Given the description of an element on the screen output the (x, y) to click on. 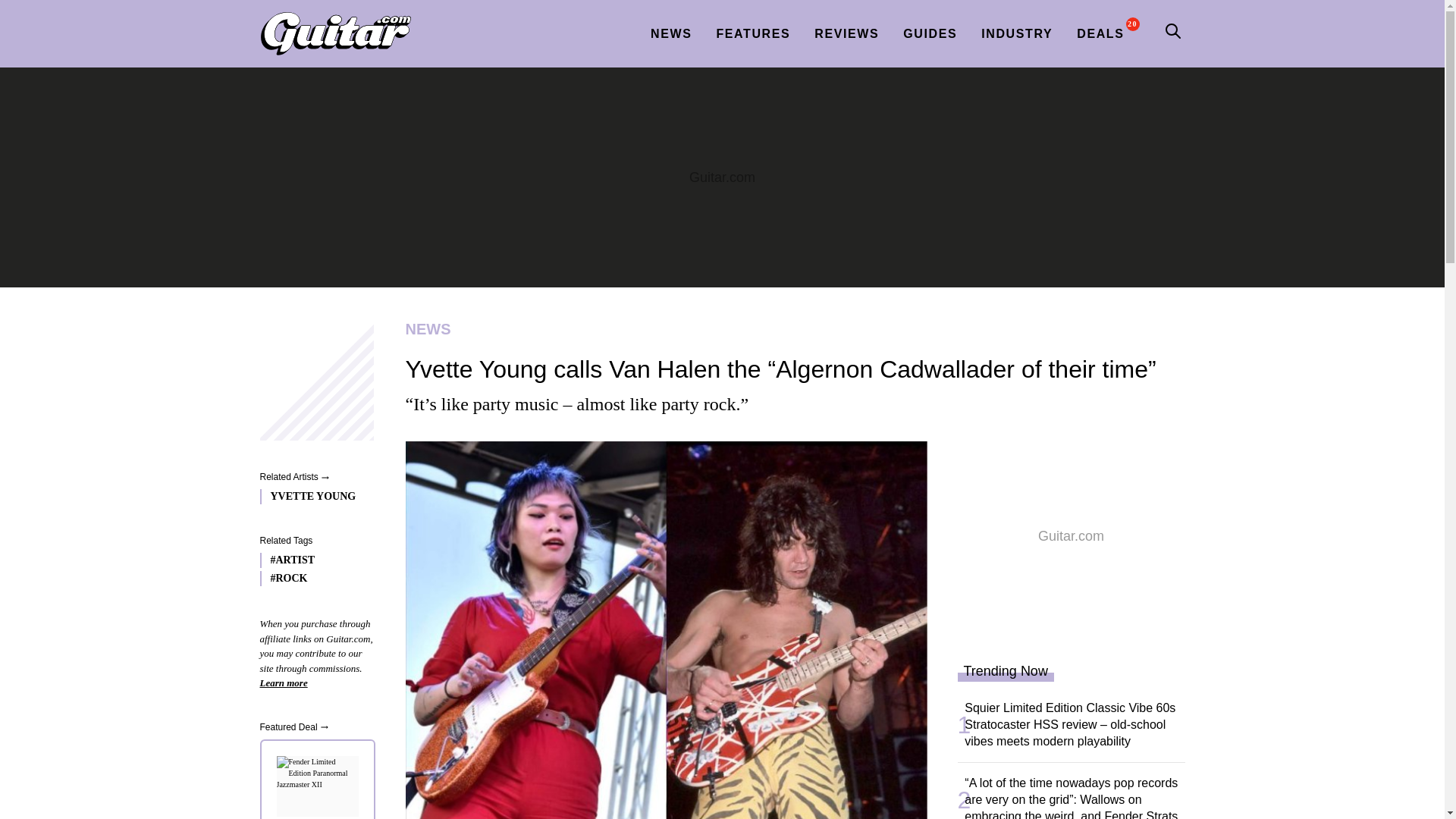
INDUSTRY (1016, 33)
YVETTE YOUNG (312, 496)
Rock (312, 578)
NEWS (789, 328)
REVIEWS (846, 33)
FEATURES (753, 33)
DEALS (1099, 33)
NEWS (671, 33)
Learn more (283, 682)
GUIDES (929, 33)
News (789, 328)
Artist (312, 560)
Yvette Young (312, 496)
